Given the description of an element on the screen output the (x, y) to click on. 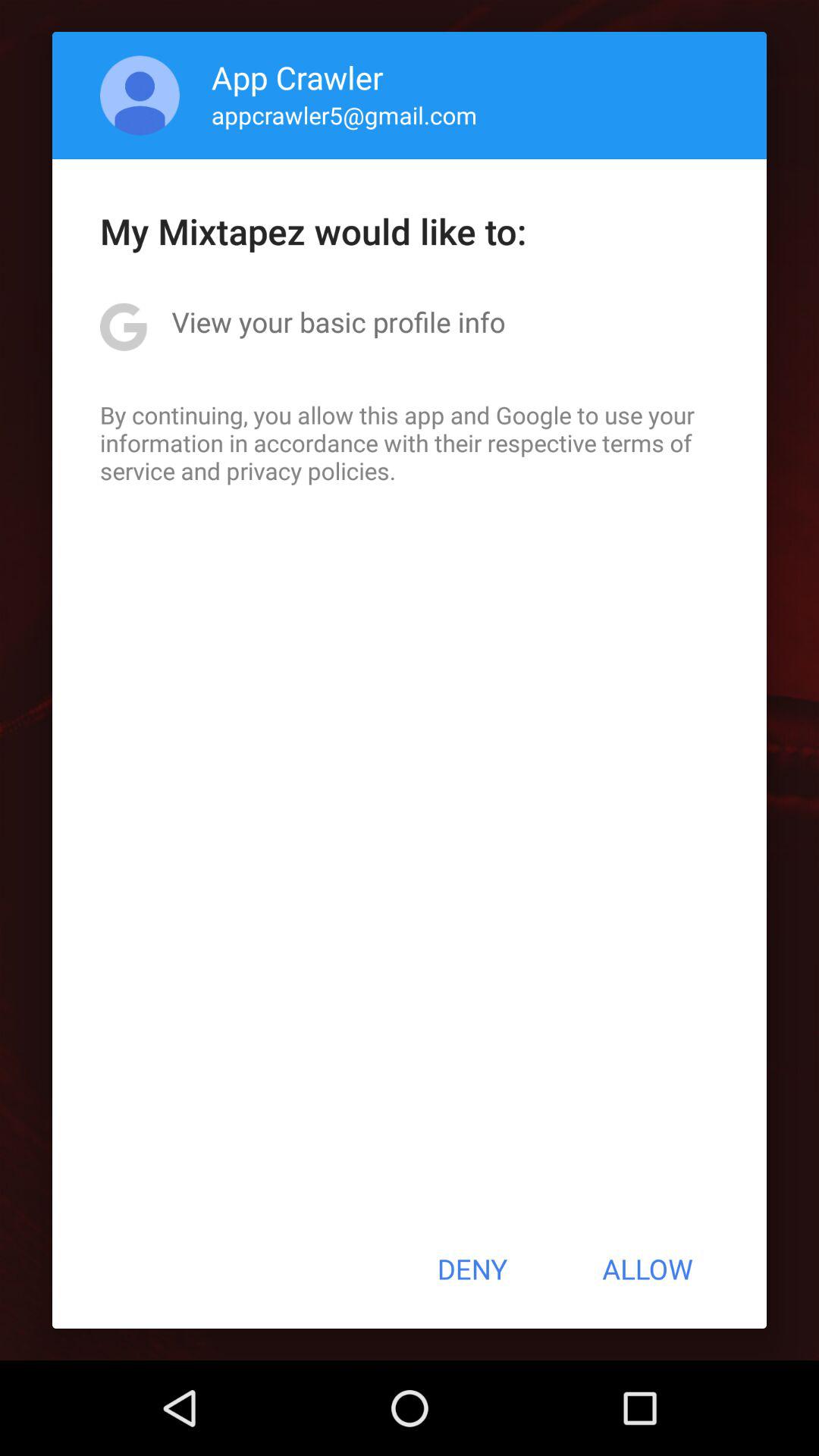
jump to deny button (471, 1268)
